Given the description of an element on the screen output the (x, y) to click on. 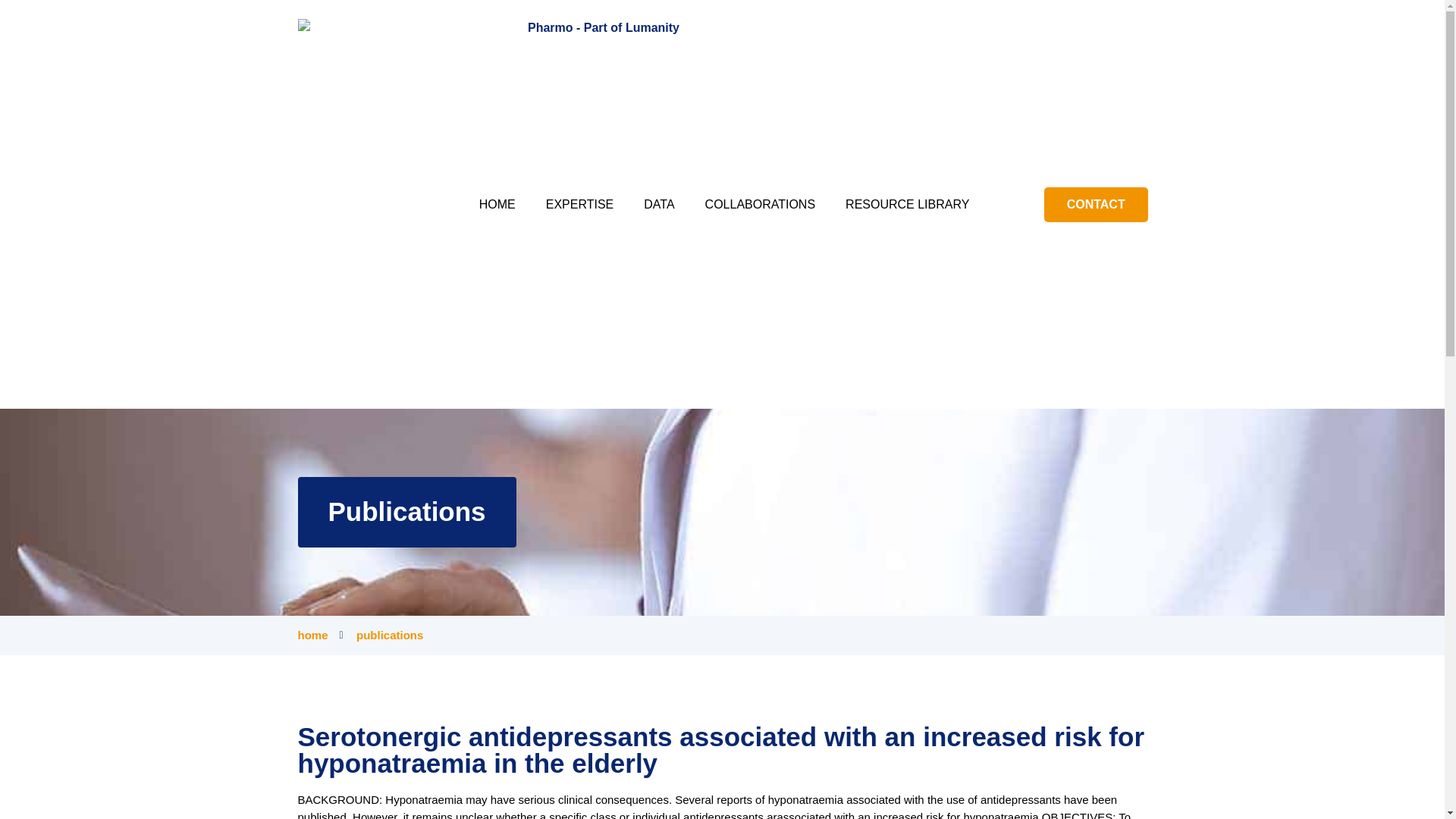
publications (381, 634)
HOME (497, 203)
EXPERTISE (579, 203)
RESOURCE LIBRARY (906, 203)
CONTACT (1095, 203)
home (312, 634)
DATA (658, 203)
COLLABORATIONS (760, 203)
